Given the description of an element on the screen output the (x, y) to click on. 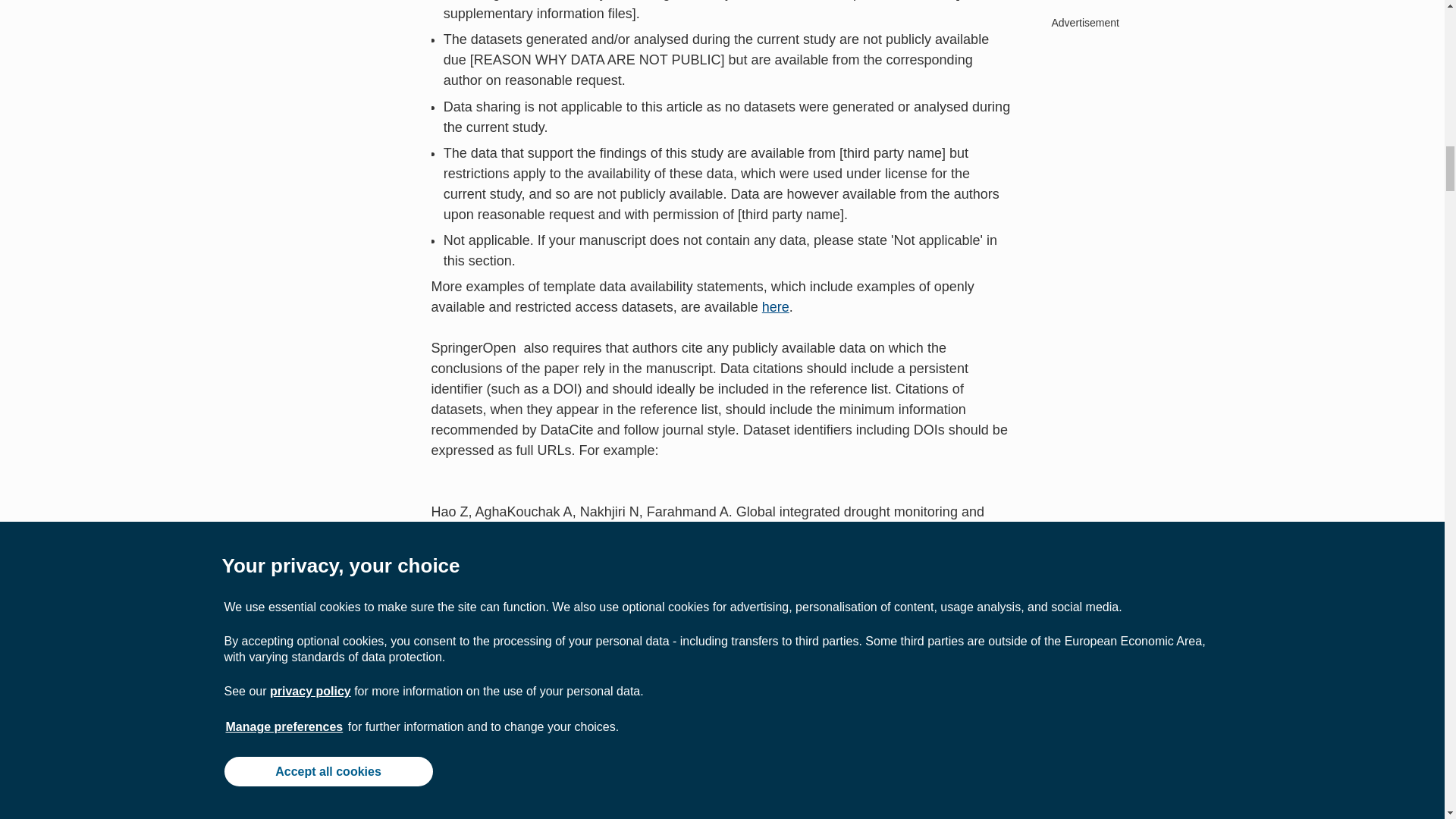
here (775, 306)
